Given the description of an element on the screen output the (x, y) to click on. 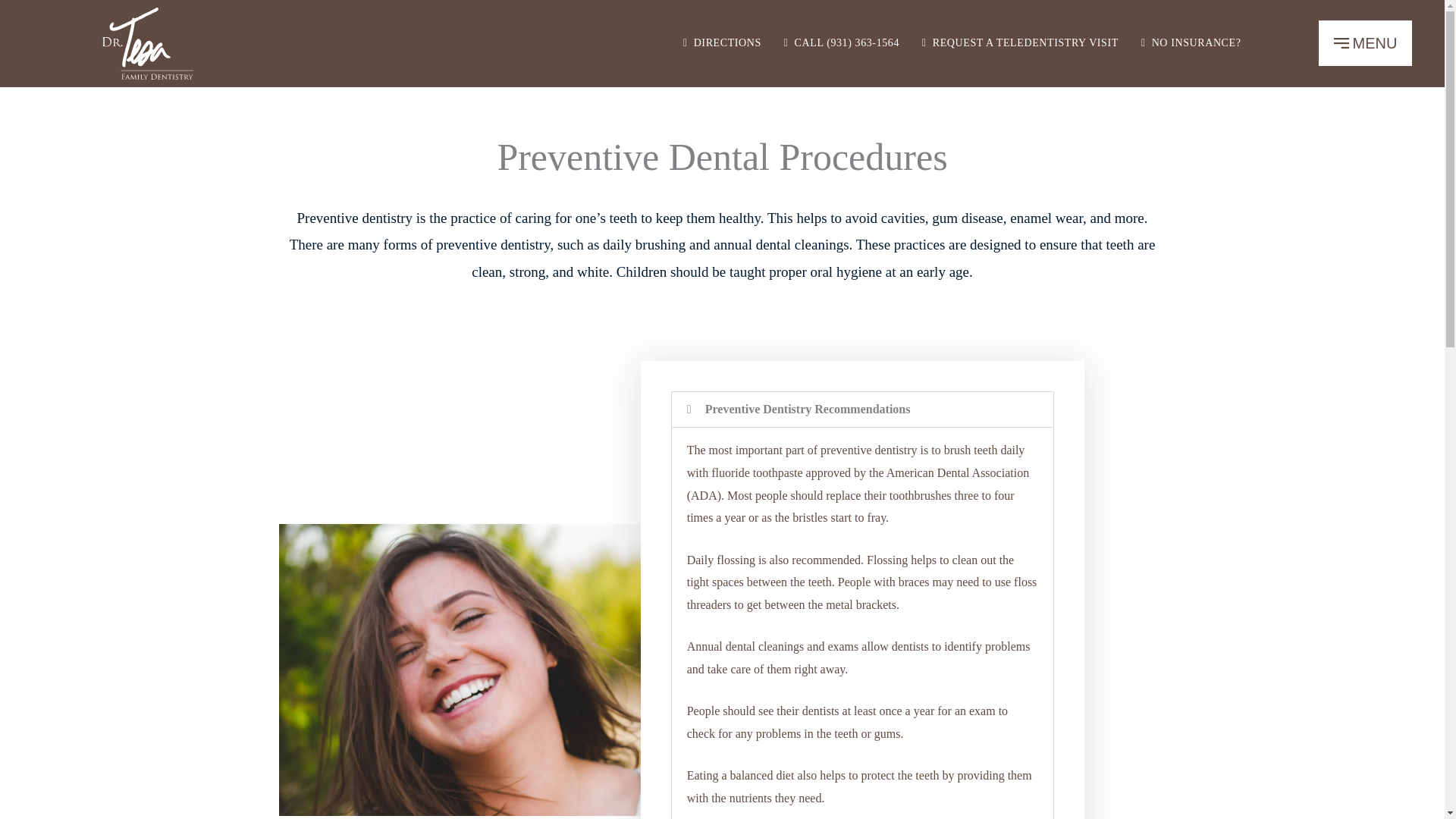
Preventive Dentistry Recommendations (807, 408)
REQUEST A TELEDENTISTRY VISIT (1020, 42)
NO INSURANCE? (1365, 43)
DIRECTIONS (1190, 42)
MENU (722, 42)
